Given the description of an element on the screen output the (x, y) to click on. 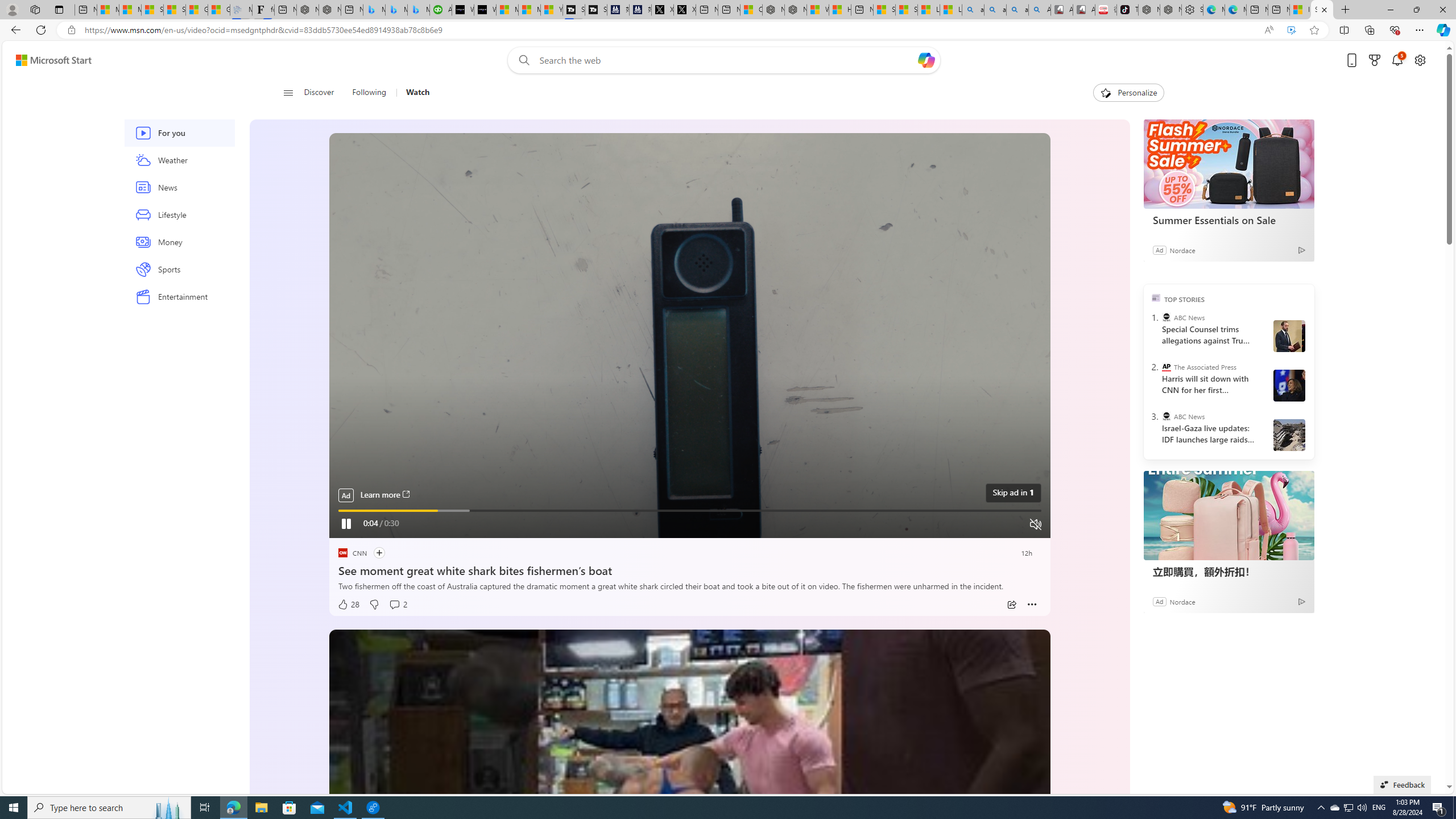
Microsoft Bing Travel - Stays in Bangkok, Bangkok, Thailand (396, 9)
Follow (378, 553)
Microsoft Bing Travel - Shangri-La Hotel Bangkok (418, 9)
28 Like (347, 604)
